Given the description of an element on the screen output the (x, y) to click on. 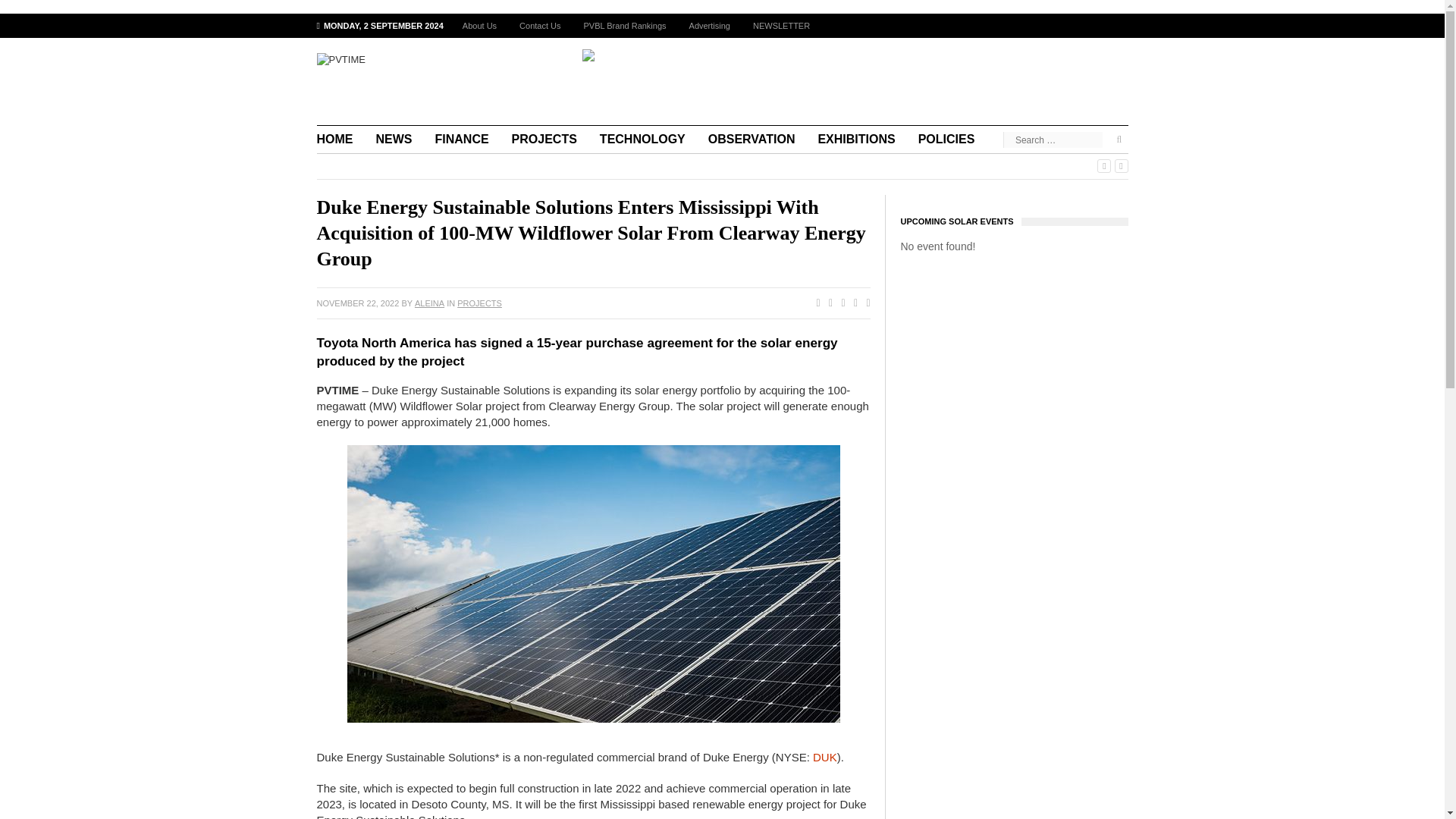
TECHNOLOGY (642, 139)
LinkedIn (864, 303)
HOME (341, 139)
NEWS (393, 139)
EXHIBITIONS (855, 139)
Facebook (814, 303)
NEWSLETTER (781, 25)
Contact Us (540, 25)
Pinterest (852, 303)
GooglePlus (839, 303)
